Given the description of an element on the screen output the (x, y) to click on. 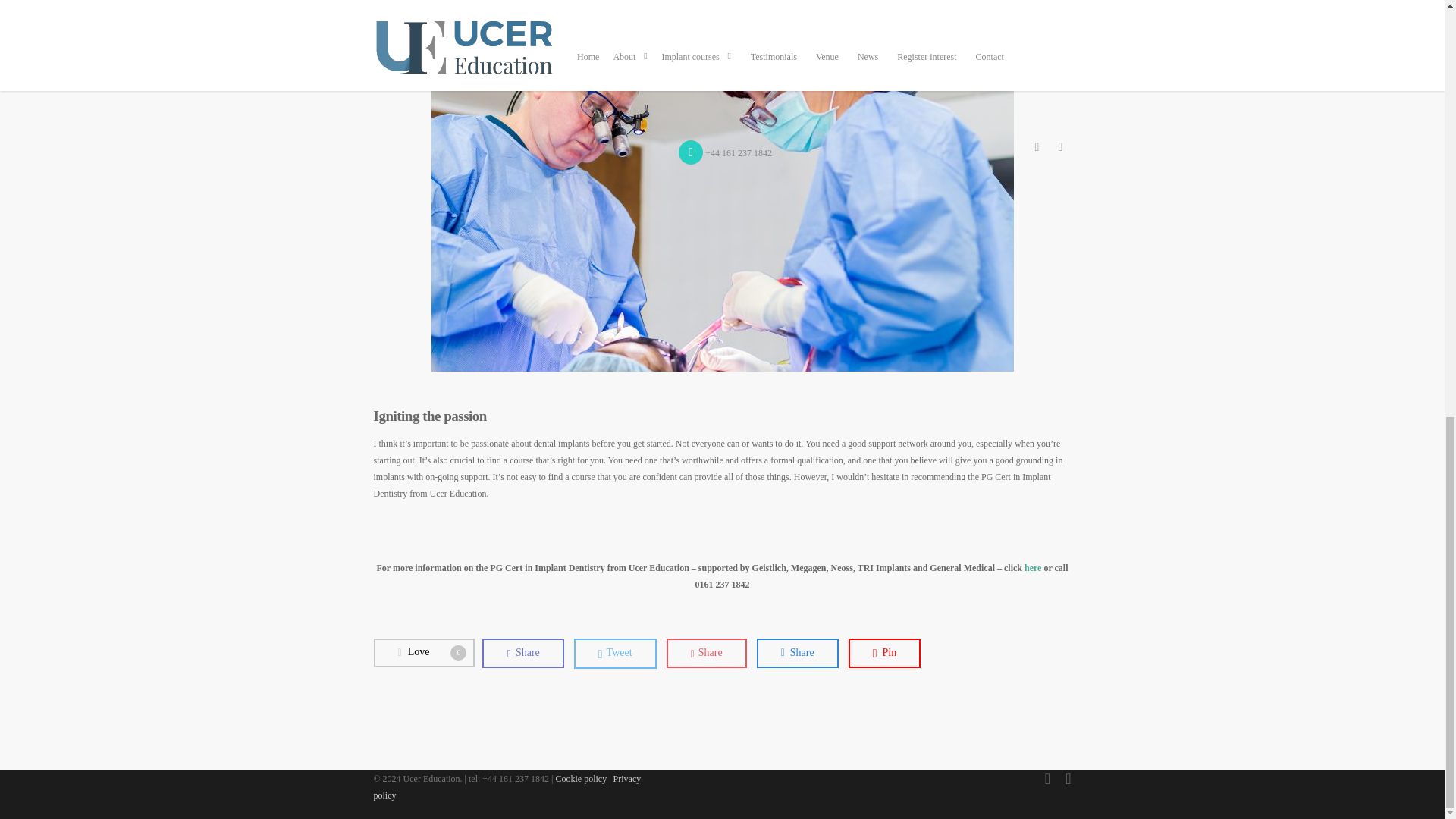
Tweet this (614, 653)
Pin this (884, 653)
Share (797, 653)
Pin (884, 653)
Share this (522, 653)
Share this (706, 653)
Share (522, 653)
Tweet (423, 652)
Share this (614, 653)
